Given the description of an element on the screen output the (x, y) to click on. 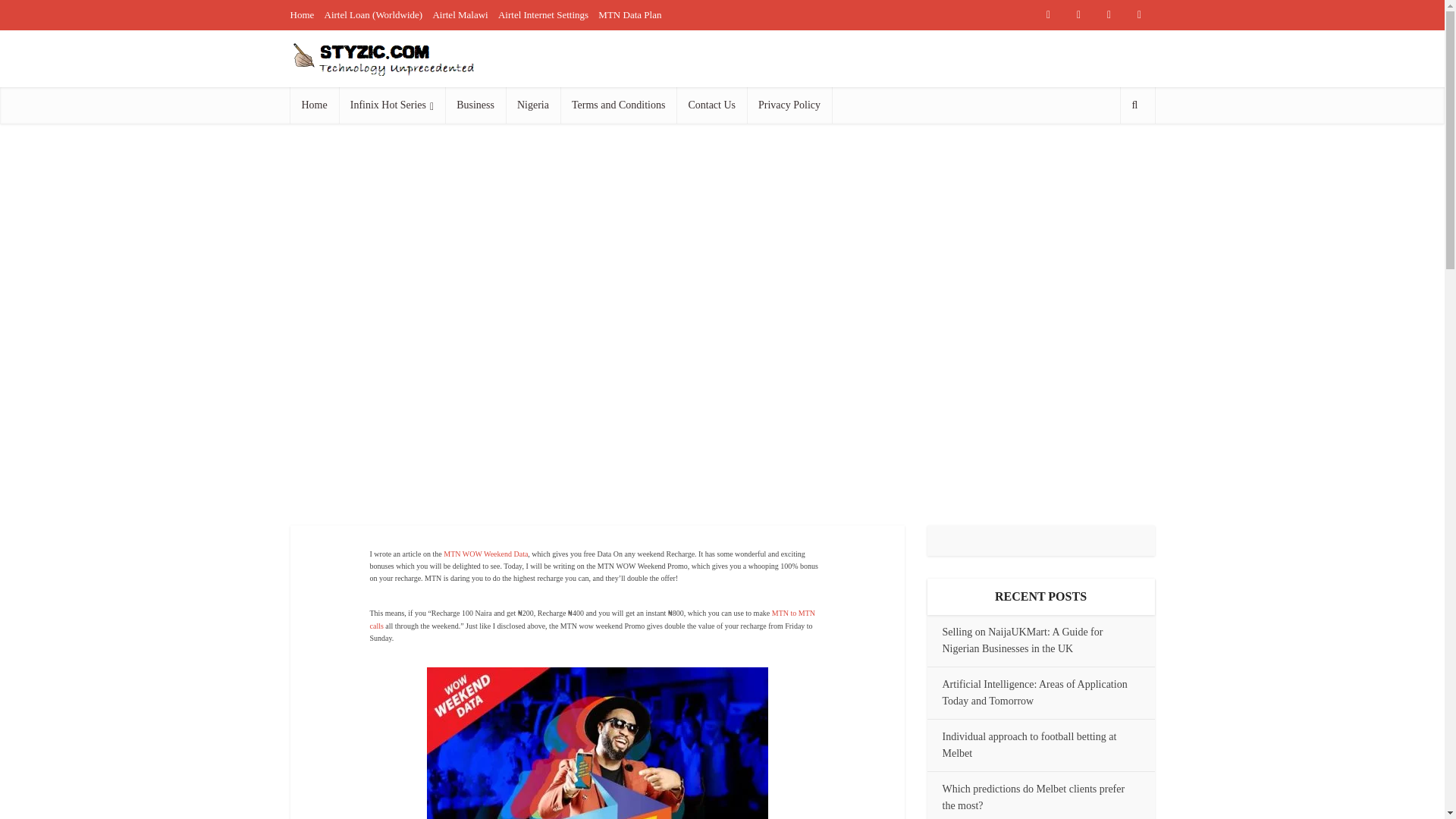
Nigeria (532, 104)
Terms and Conditions (618, 104)
Infinix Hot Series (392, 104)
Privacy Policy (788, 104)
MTN Data Plan (629, 14)
Airtel Internet Settings (542, 14)
Airtel Malawi (459, 14)
Business (475, 104)
Contact Us (711, 104)
mtn wow weekend promo (596, 743)
